Given the description of an element on the screen output the (x, y) to click on. 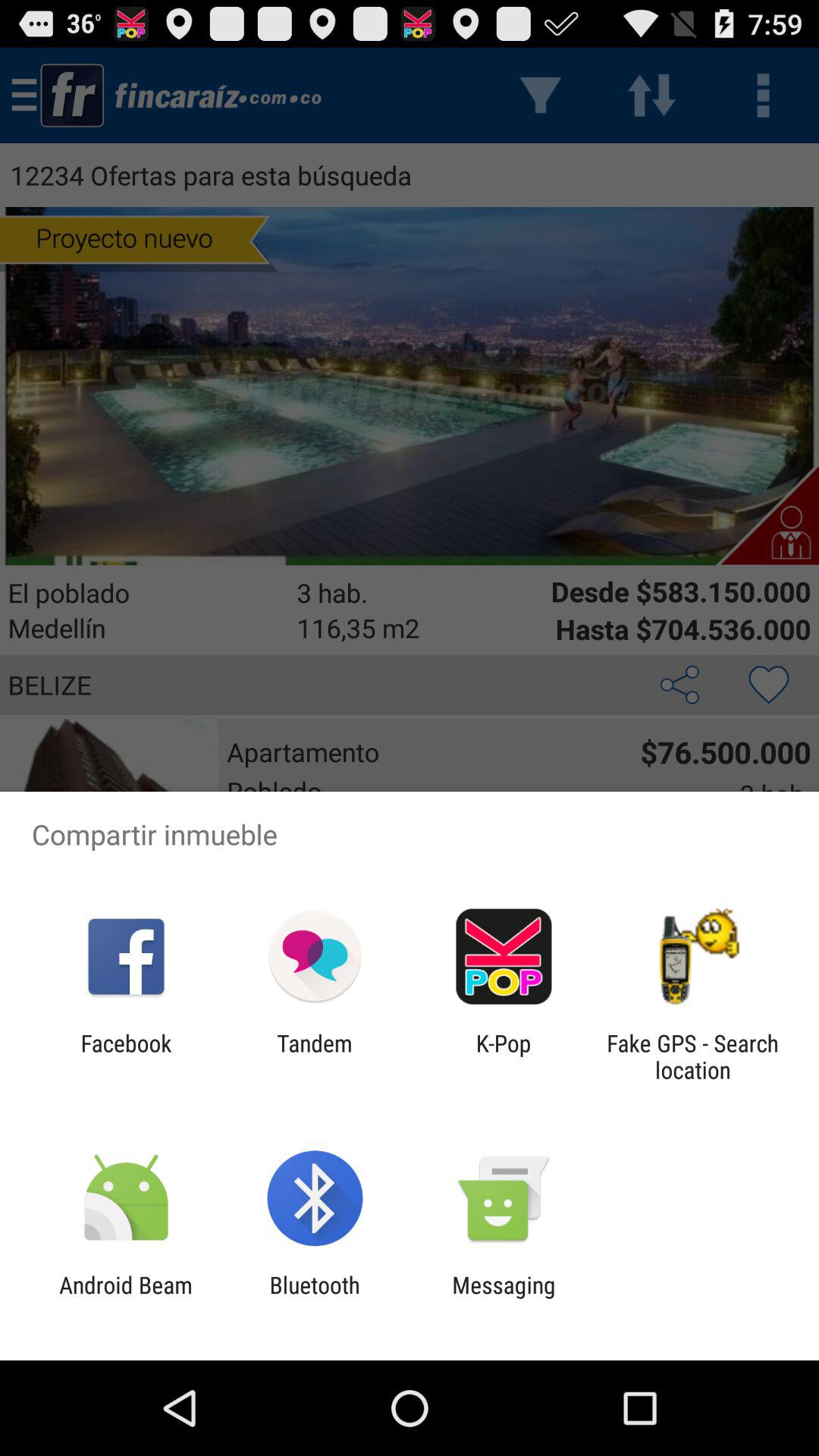
open icon next to android beam item (314, 1298)
